Given the description of an element on the screen output the (x, y) to click on. 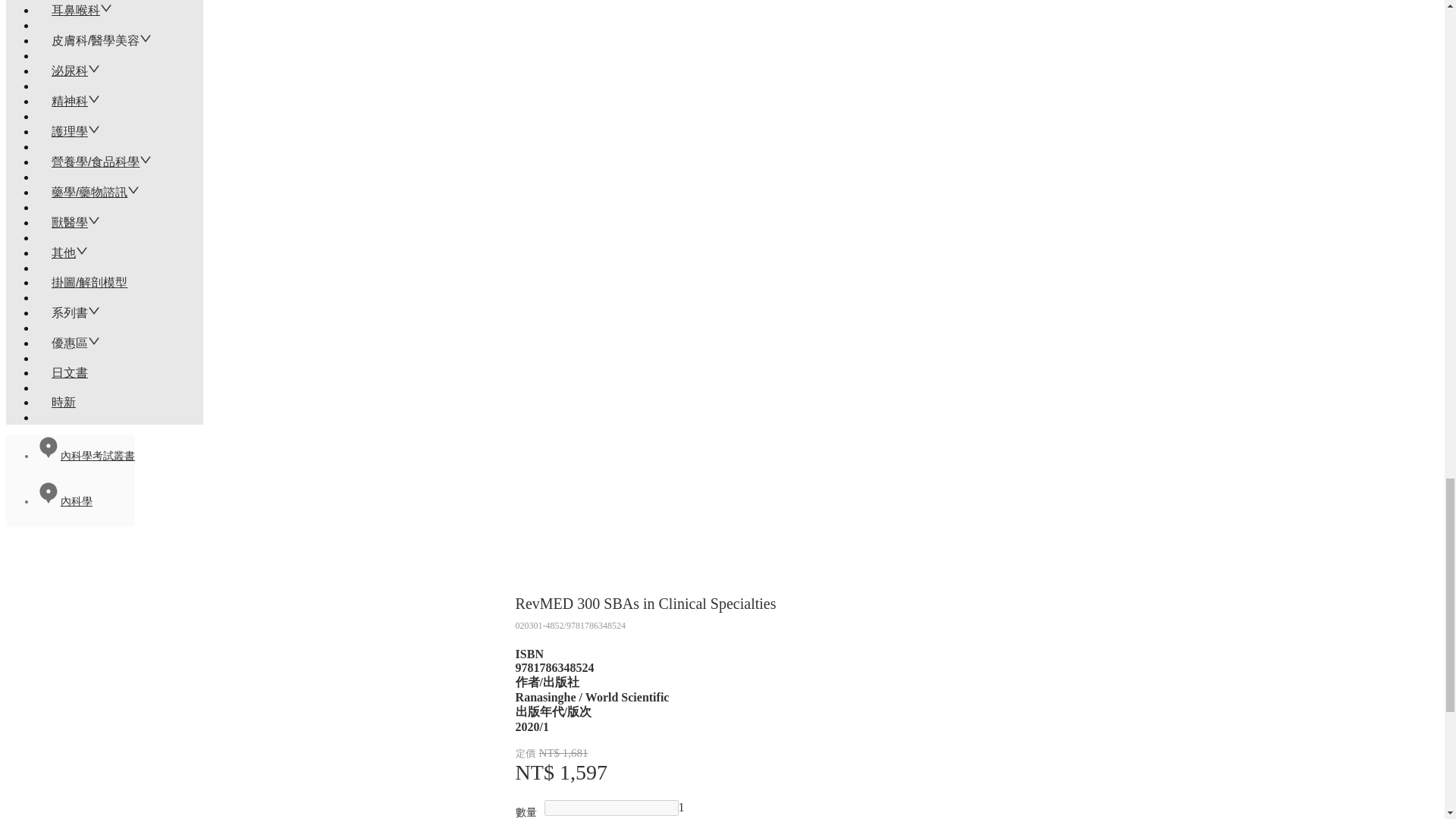
1 (681, 807)
